Given the description of an element on the screen output the (x, y) to click on. 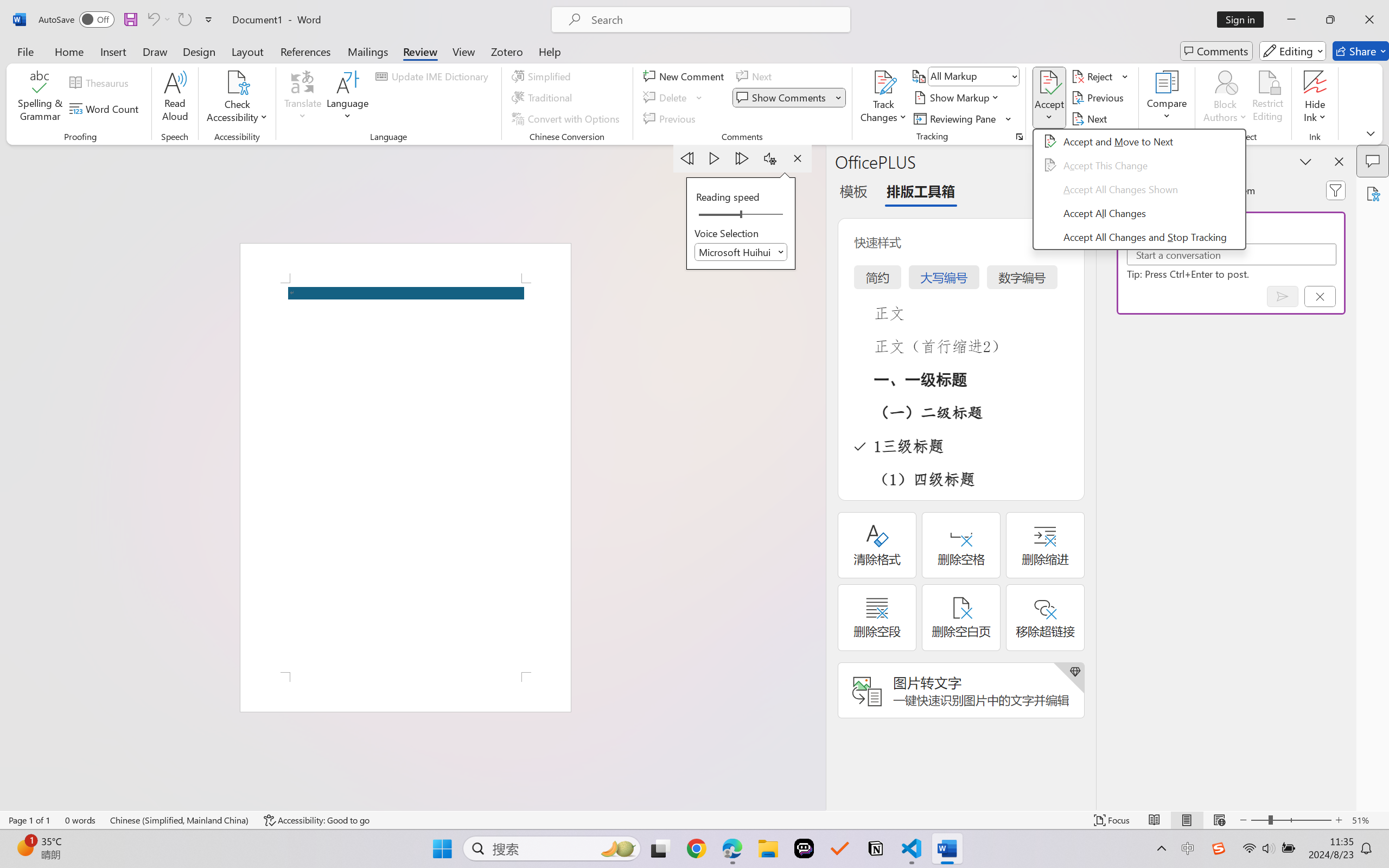
Delete (666, 97)
Accept and Move to Next (1049, 81)
Reviewing Pane (955, 118)
Page left (716, 214)
Reject and Move to Next (1093, 75)
Change Tracking Options... (1019, 136)
